Given the description of an element on the screen output the (x, y) to click on. 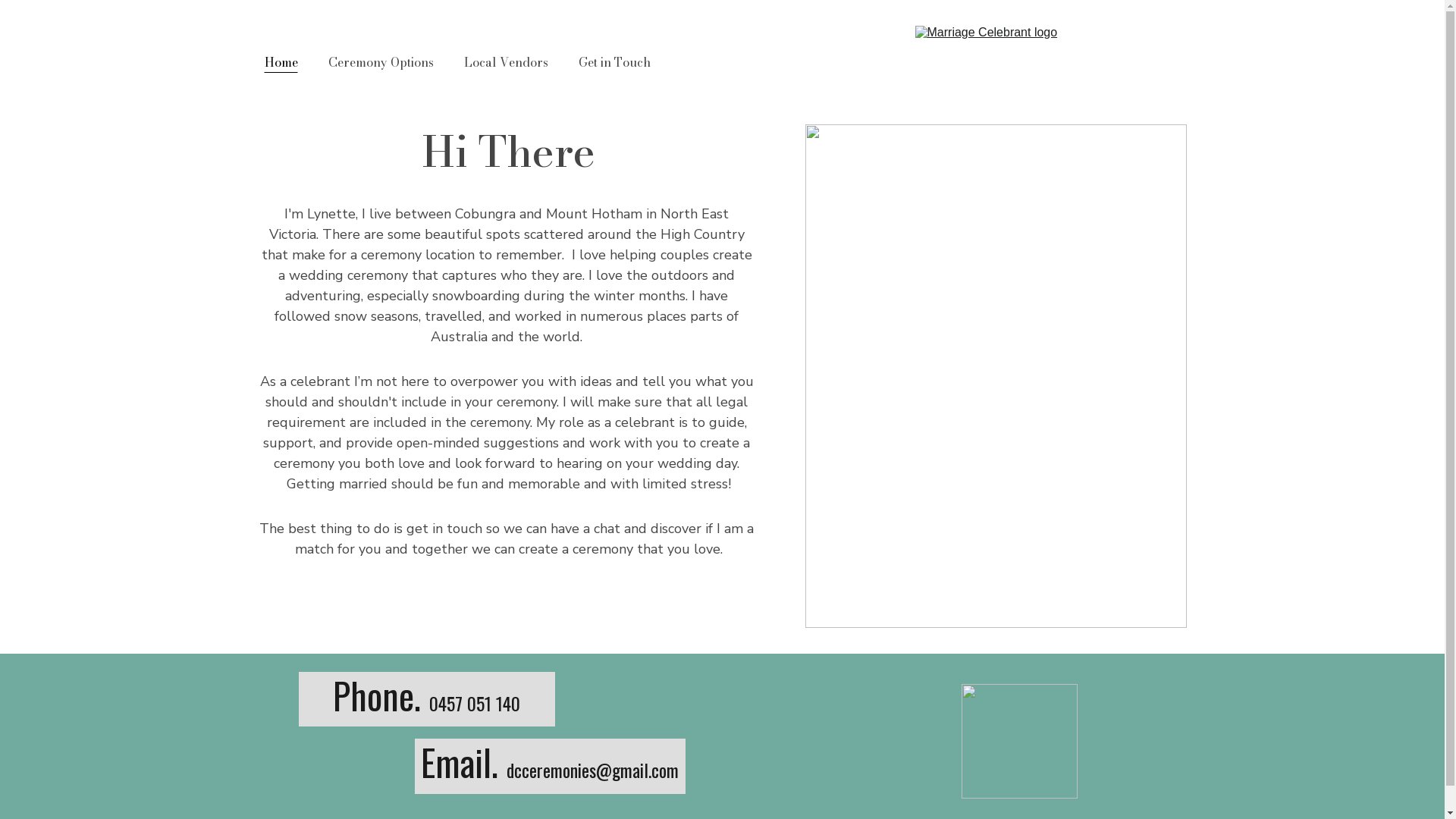
Ceremony Options Element type: text (380, 62)
Local Vendors Element type: text (506, 62)
Get in Touch Element type: text (613, 62)
Home Element type: text (280, 62)
